Given the description of an element on the screen output the (x, y) to click on. 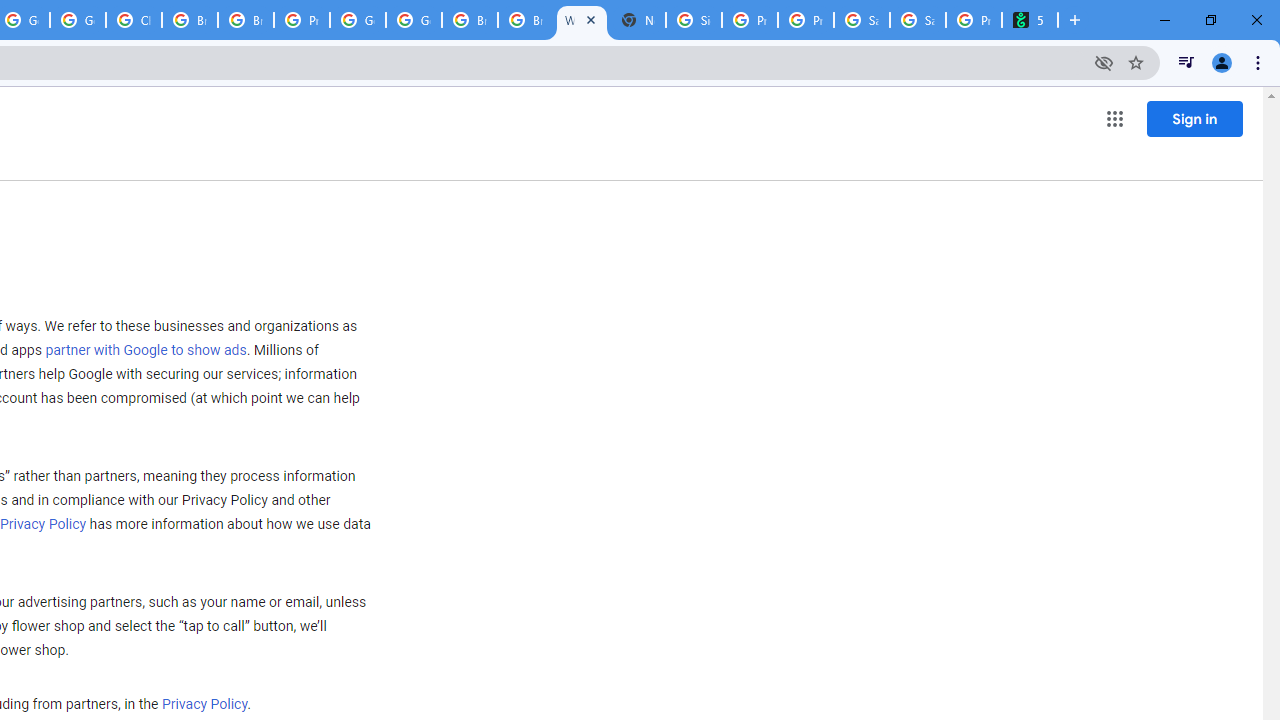
partner with Google to show ads (145, 351)
